Given the description of an element on the screen output the (x, y) to click on. 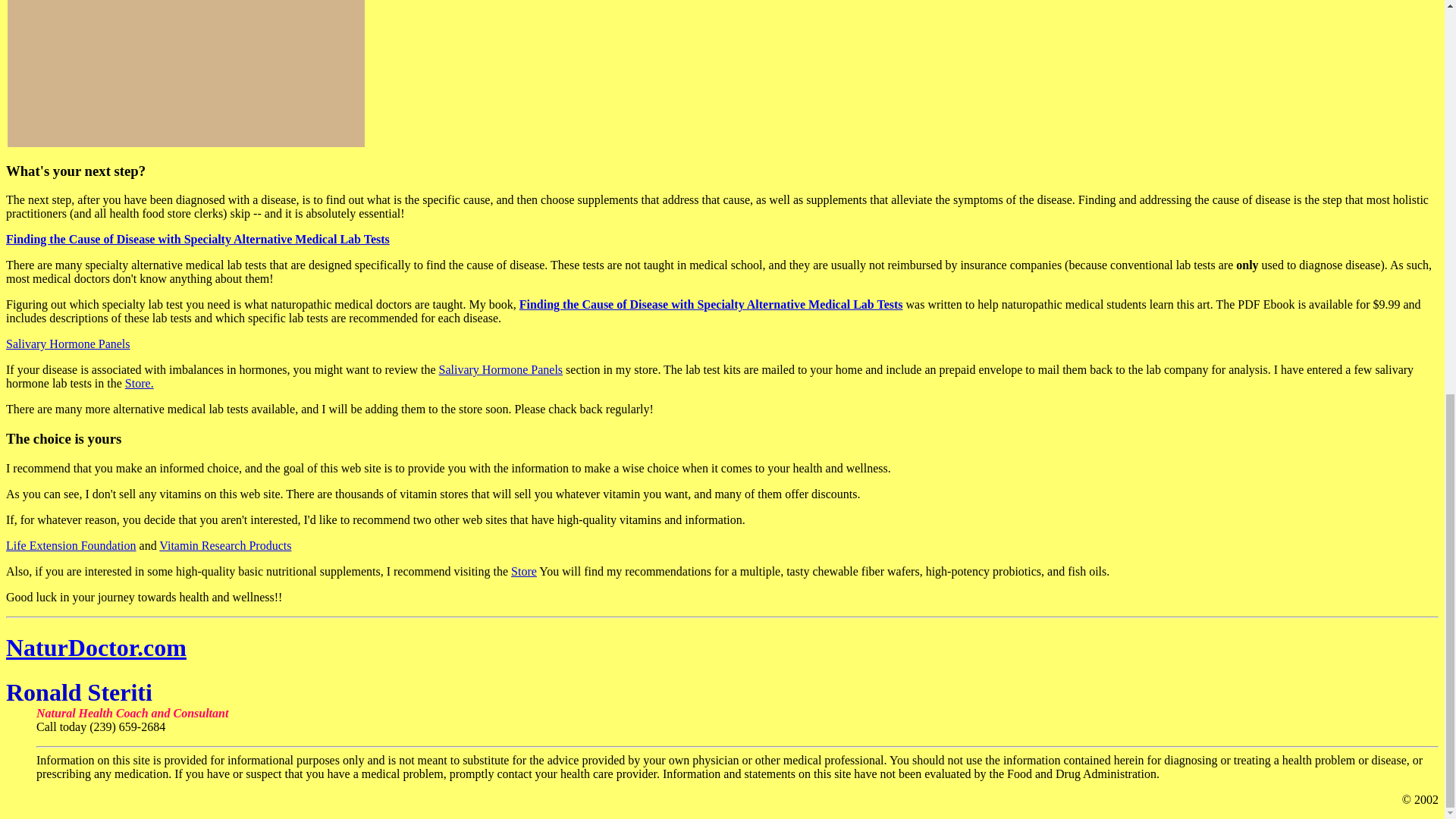
NaturDoctor.com (95, 646)
Life Extension Foundation (70, 545)
Store. (139, 382)
Salivary Hormone Panels (68, 343)
Store (524, 571)
Salivary Hormone Panels (501, 369)
Vitamin Research Products (224, 545)
